Given the description of an element on the screen output the (x, y) to click on. 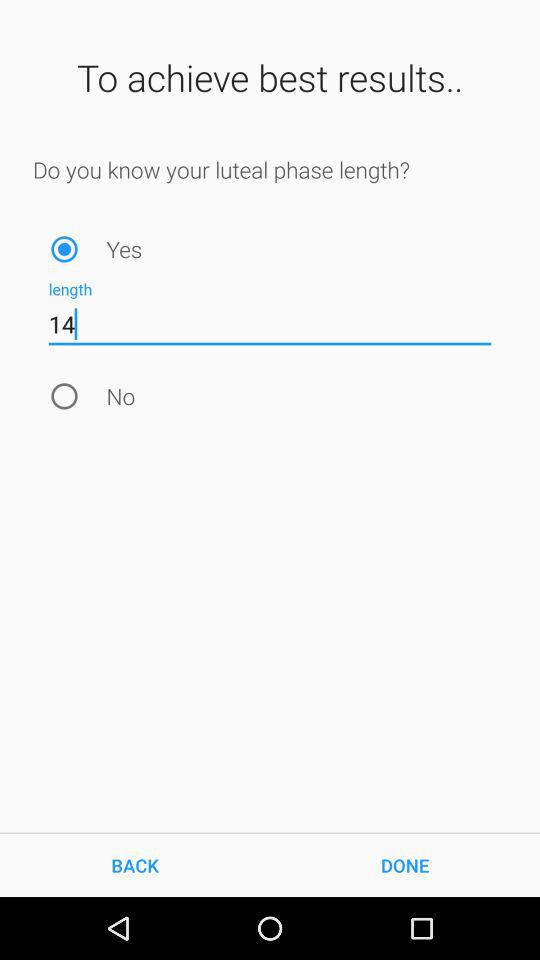
no (64, 395)
